Given the description of an element on the screen output the (x, y) to click on. 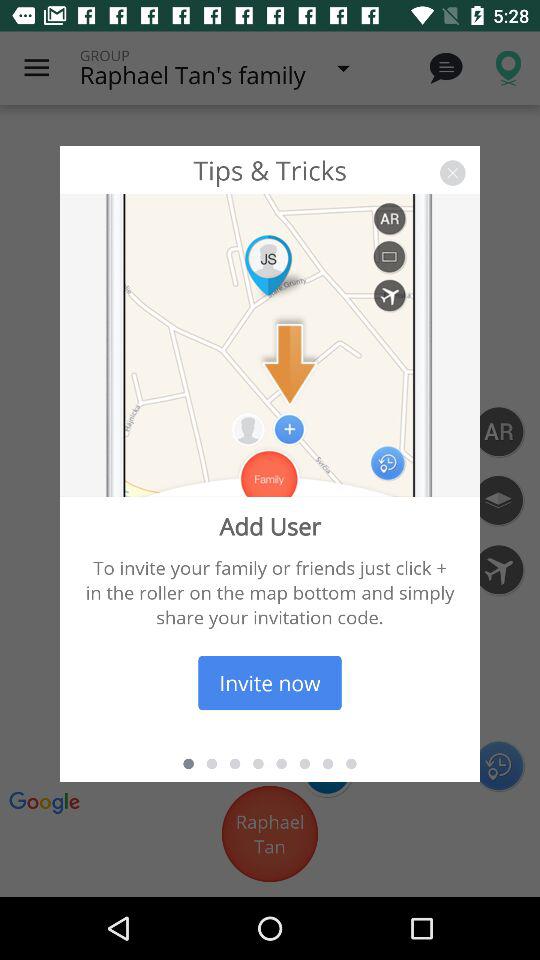
click the close option (452, 172)
